Given the description of an element on the screen output the (x, y) to click on. 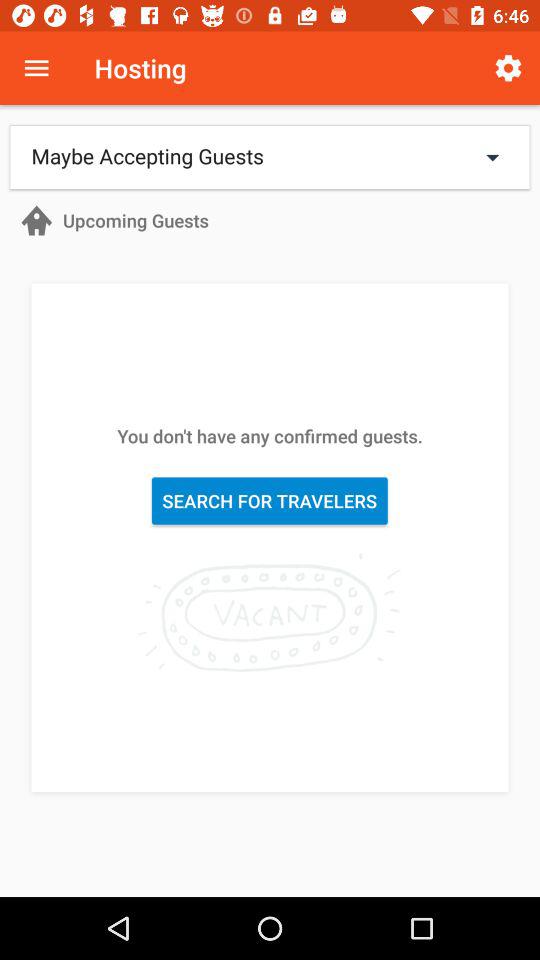
select the search for travelers icon (269, 500)
